Given the description of an element on the screen output the (x, y) to click on. 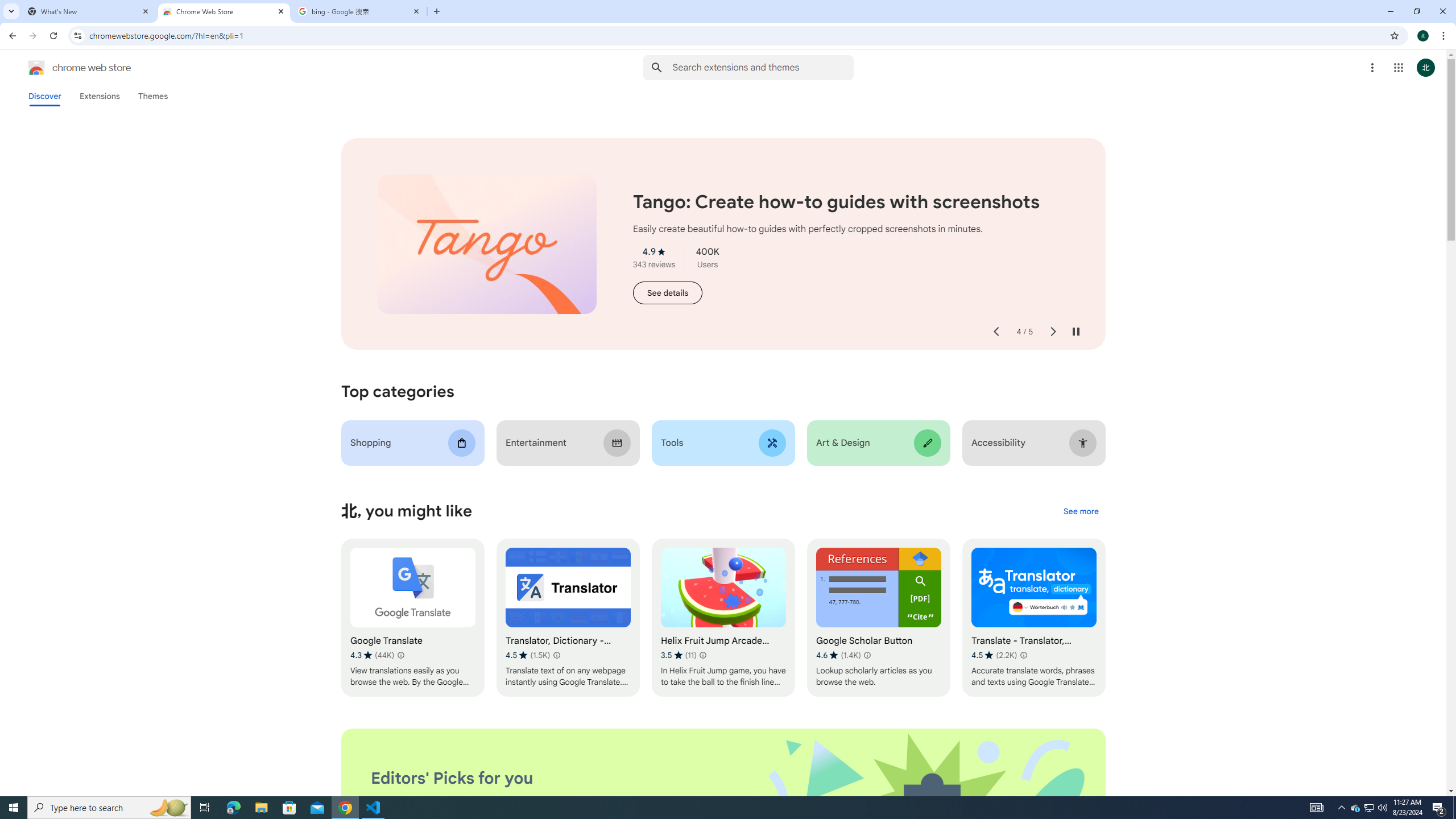
What's New (88, 11)
Chrome Web Store (224, 11)
